Given the description of an element on the screen output the (x, y) to click on. 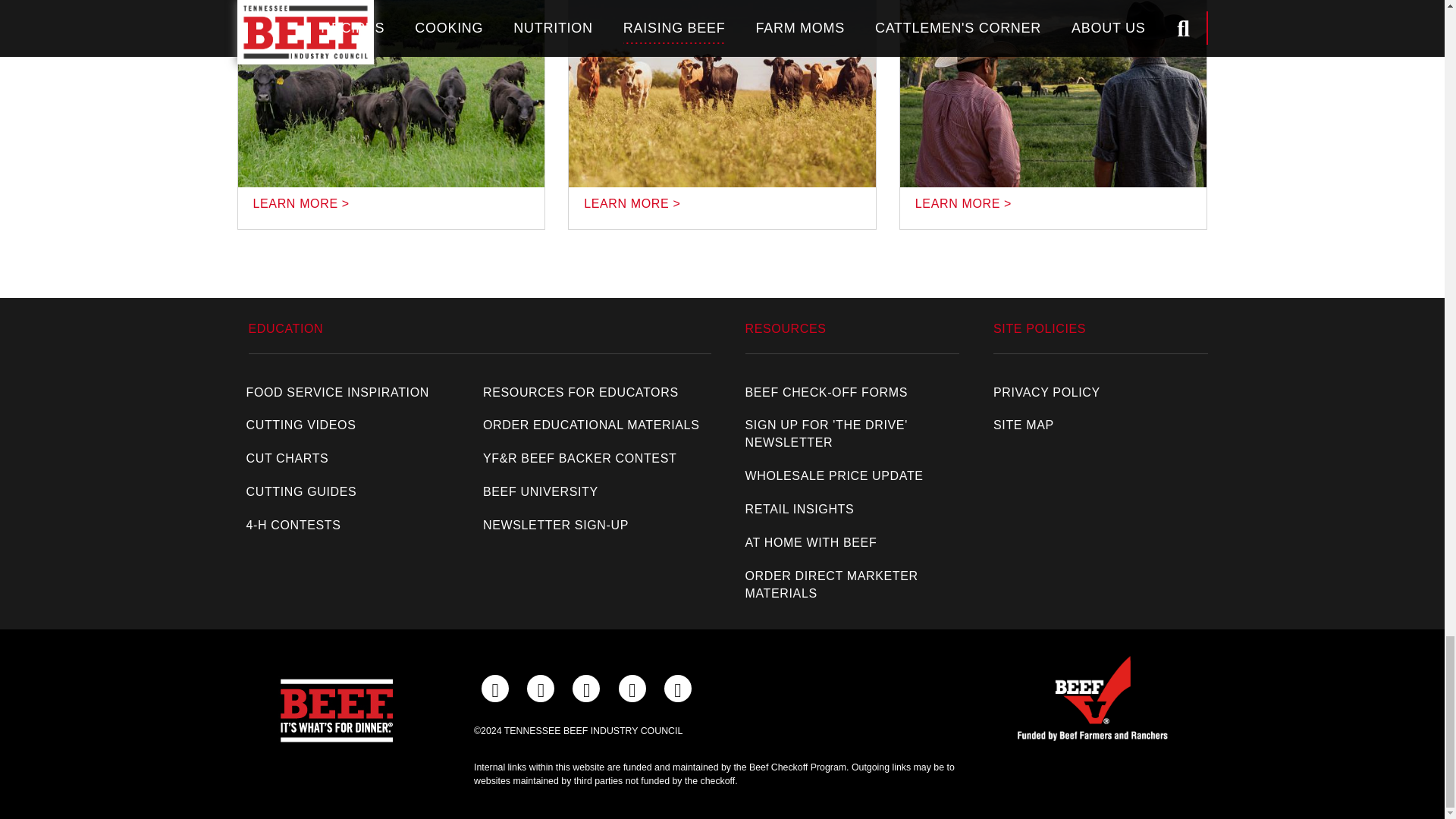
Chef's Roll Arizona Photos, Chef's Roll Arizona Photos (1053, 93)
Cattle On Grass (722, 93)
Thunderview (391, 93)
